Given the description of an element on the screen output the (x, y) to click on. 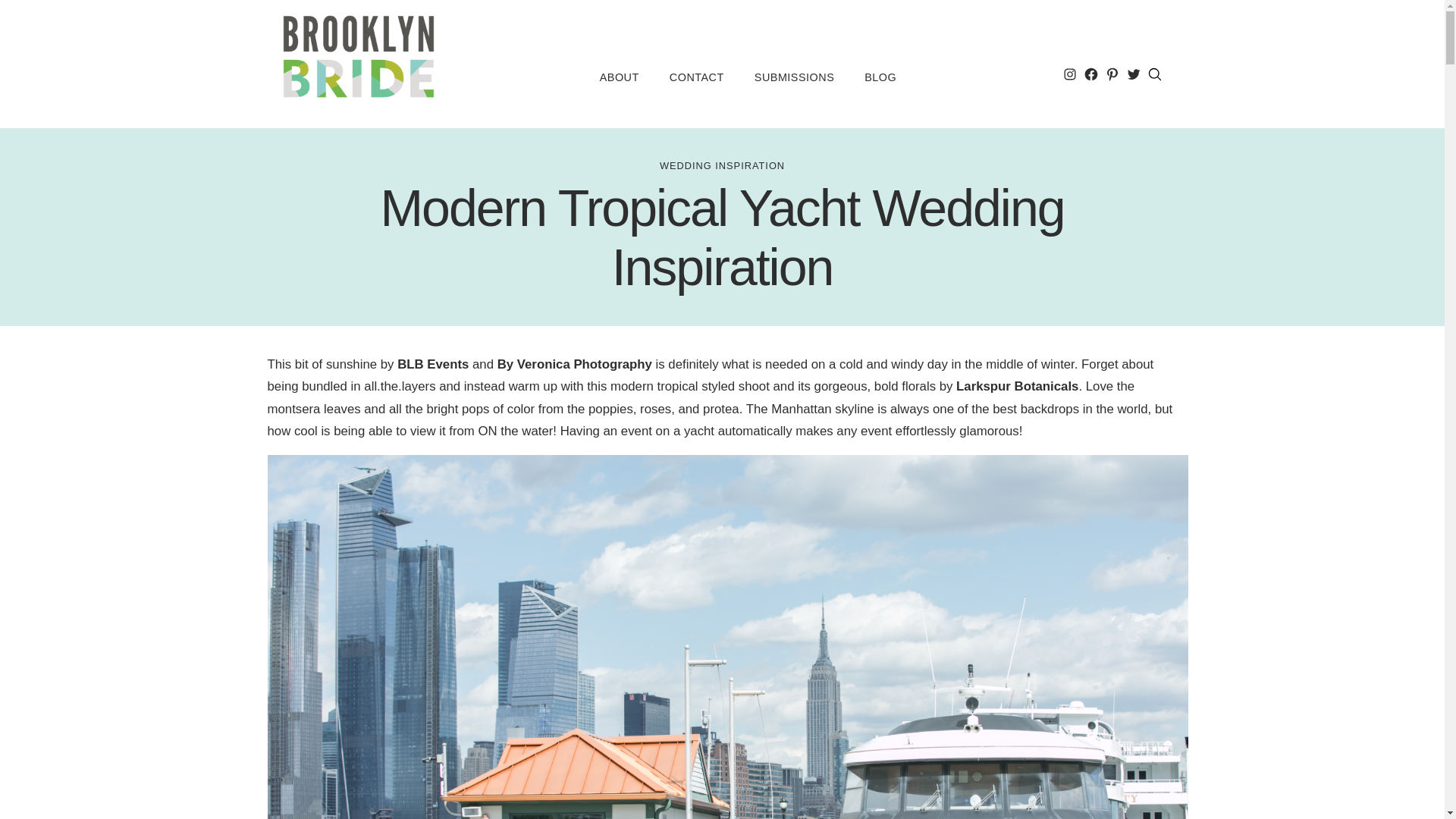
Twitter (1132, 73)
Instagram (1069, 73)
ABOUT (619, 76)
WEDDING INSPIRATION (721, 165)
By Veronica Photography (574, 364)
BLOG (880, 76)
Larkspur Botanicals (1017, 386)
BLB Events (432, 364)
CONTACT (696, 76)
Pinterest (1111, 73)
Facebook (1090, 73)
SUBMISSIONS (794, 76)
